Given the description of an element on the screen output the (x, y) to click on. 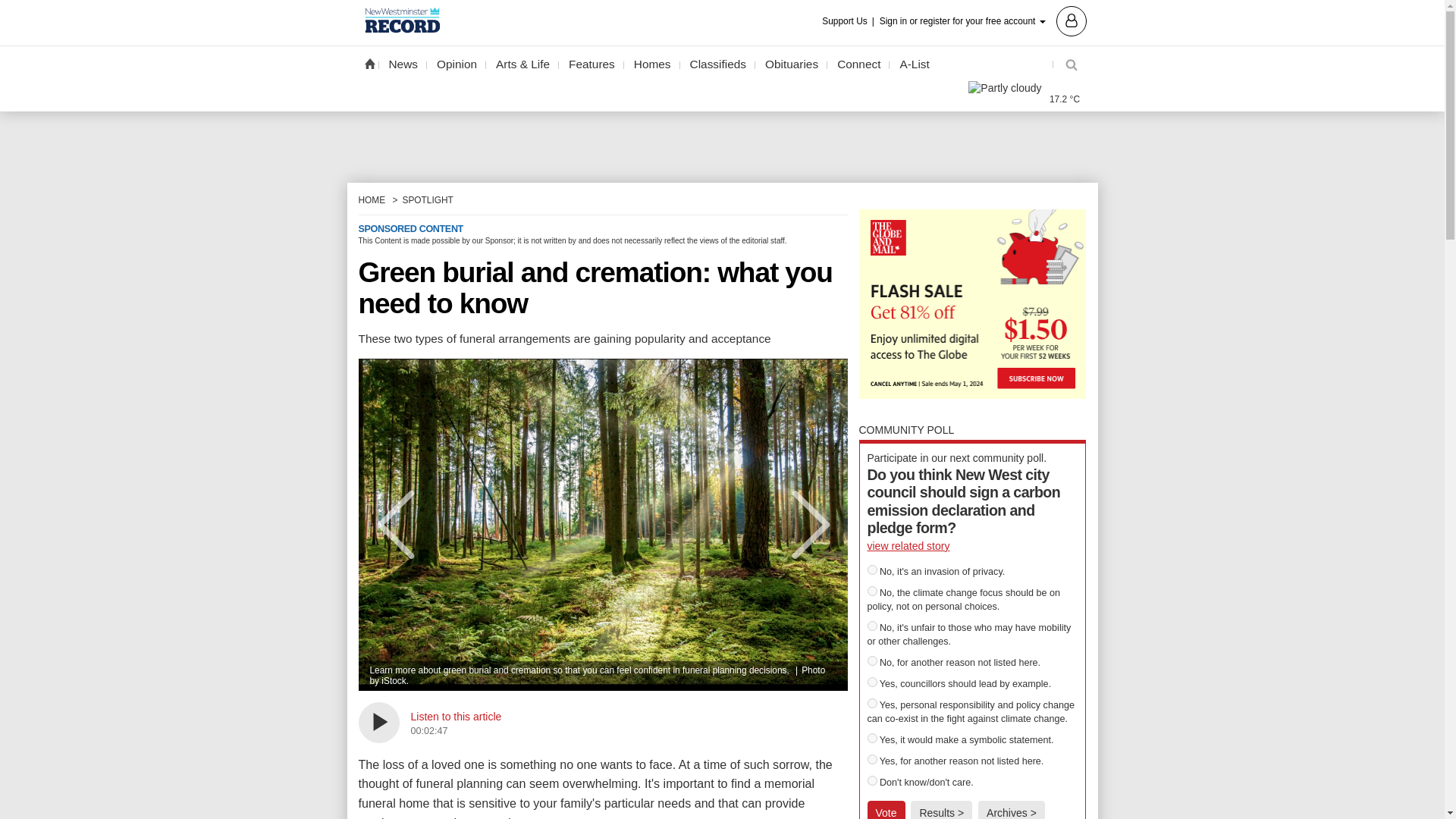
Sign in or register for your free account (982, 20)
109169 (872, 780)
109164 (872, 660)
109165 (872, 682)
Opinion (456, 64)
Support Us (849, 21)
News (403, 64)
109168 (872, 759)
109161 (872, 569)
Home (368, 63)
